Given the description of an element on the screen output the (x, y) to click on. 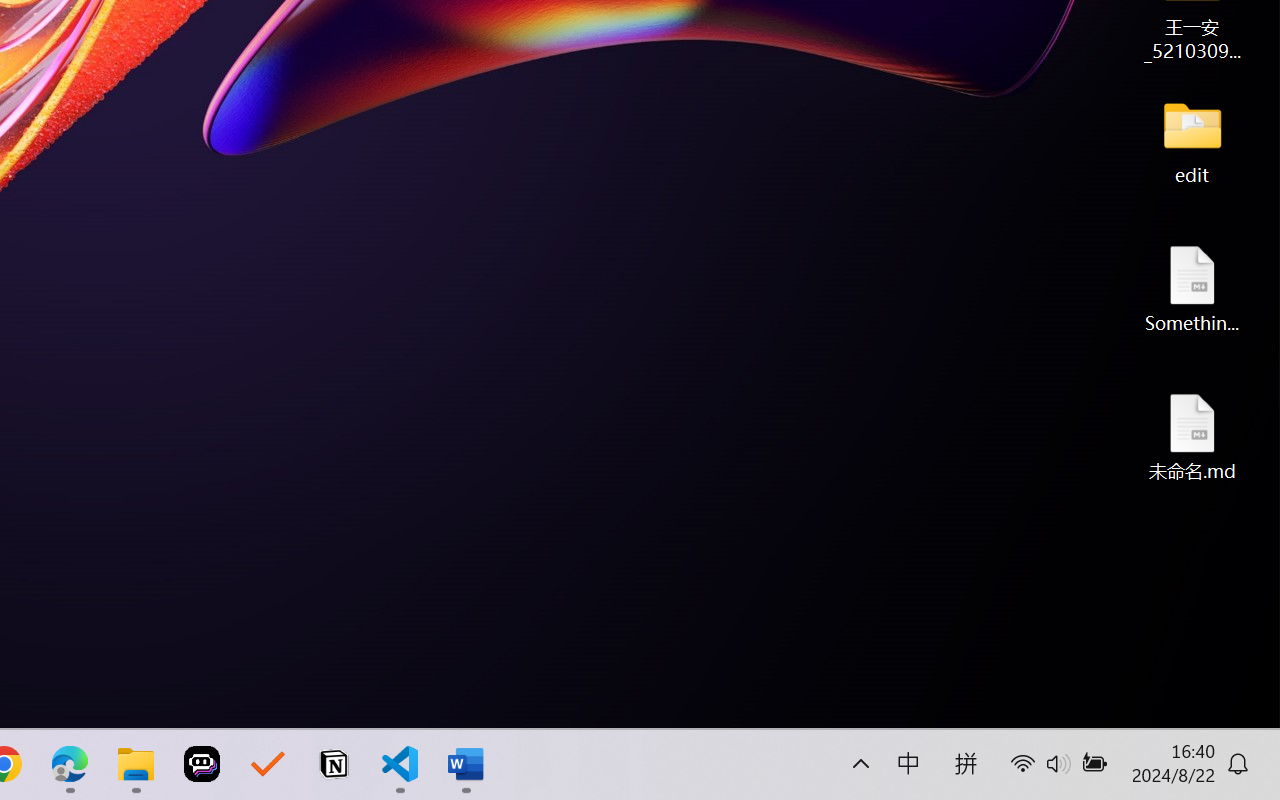
Something.md (1192, 288)
Poe (201, 764)
